Given the description of an element on the screen output the (x, y) to click on. 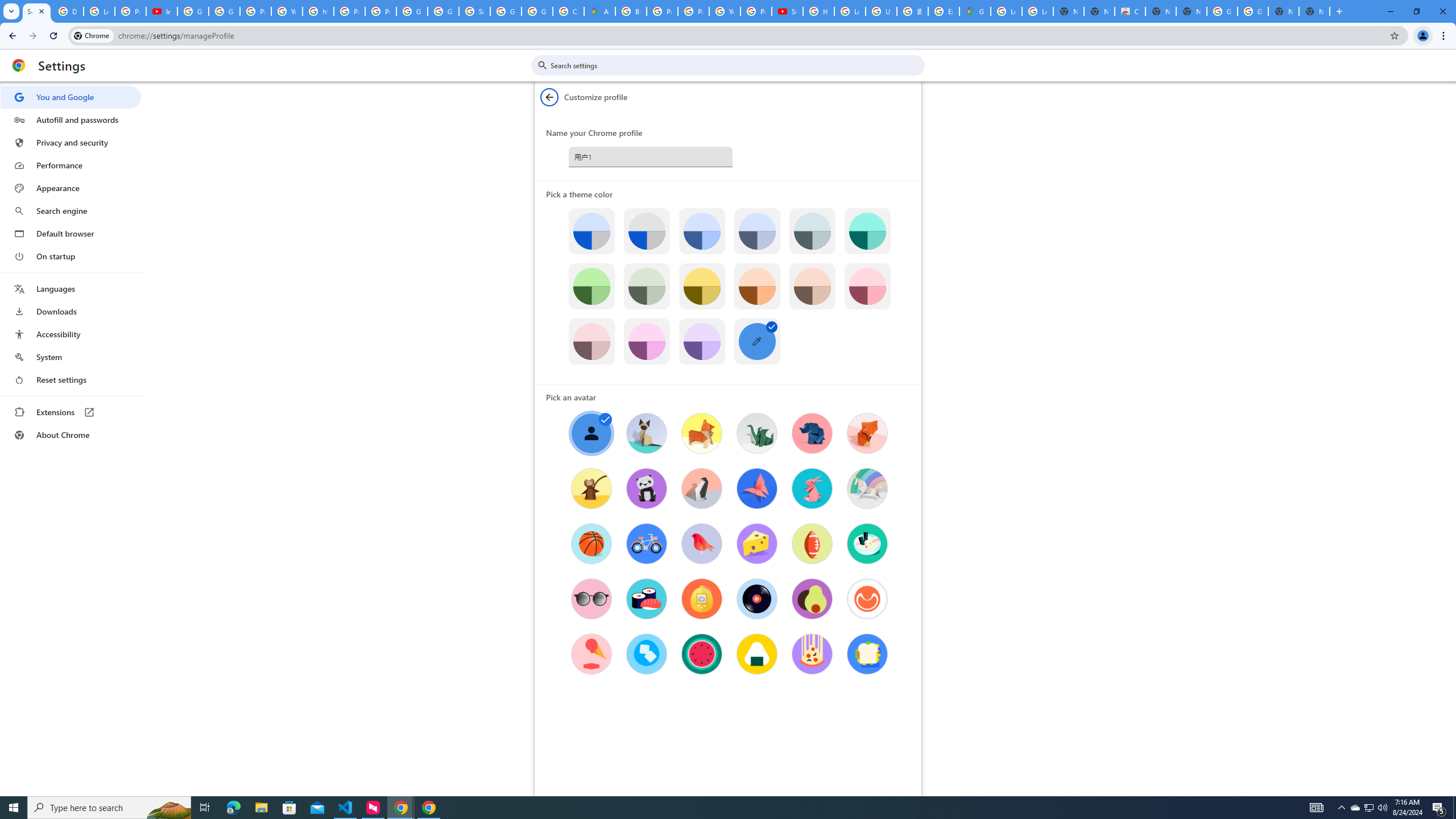
https://scholar.google.com/ (318, 11)
Downloads (70, 311)
Privacy Help Center - Policies Help (349, 11)
Create your Google Account (568, 11)
Explore new street-level details - Google Maps Help (943, 11)
Delete photos & videos - Computer - Google Photos Help (67, 11)
Google Account Help (223, 11)
Blogger Policies and Guidelines - Transparency Center (631, 11)
Search engine (70, 210)
Introduction | Google Privacy Policy - YouTube (161, 11)
